Given the description of an element on the screen output the (x, y) to click on. 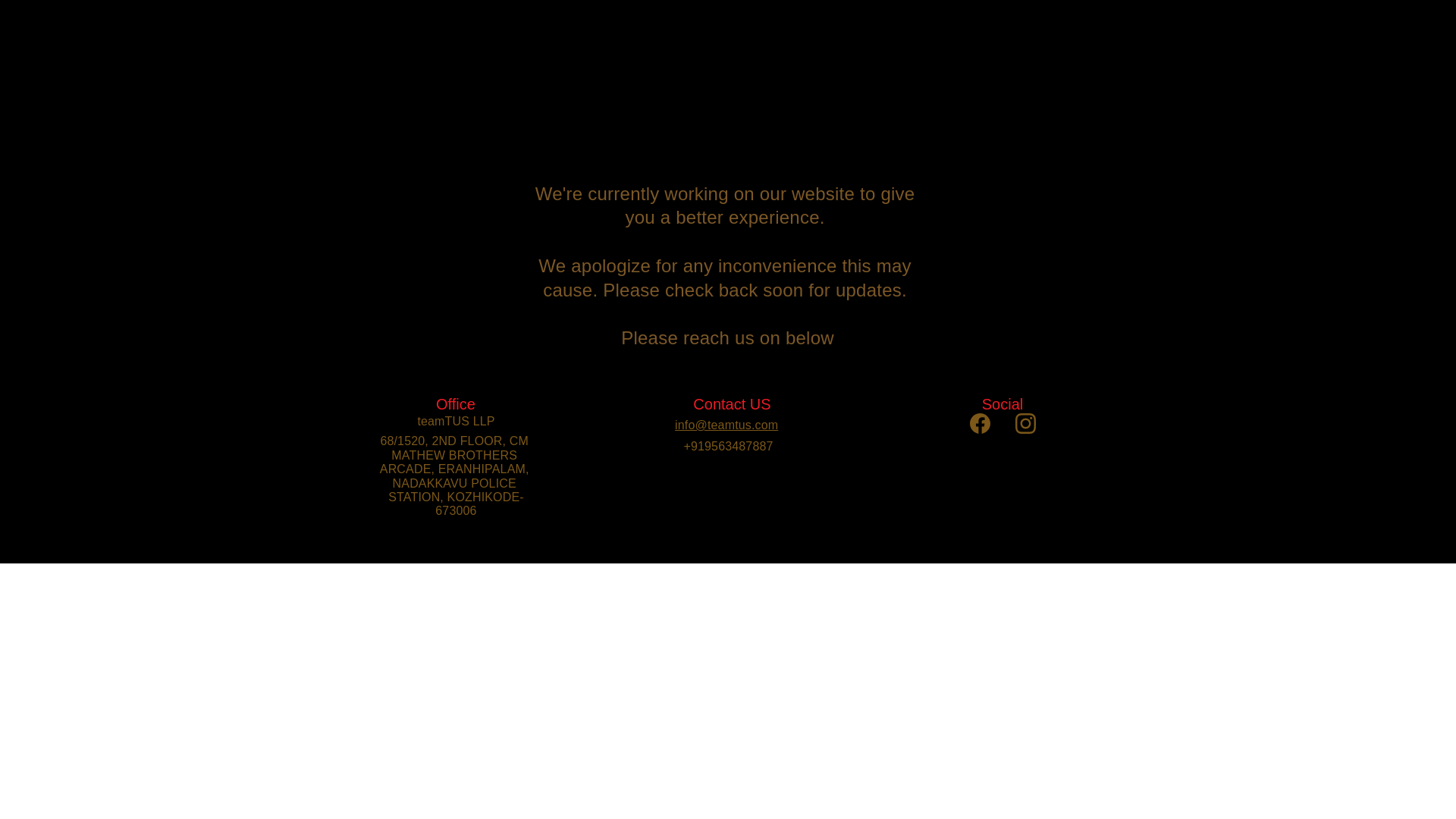
Go to Facebook page (979, 423)
Go to Instagram page (1024, 423)
